Given the description of an element on the screen output the (x, y) to click on. 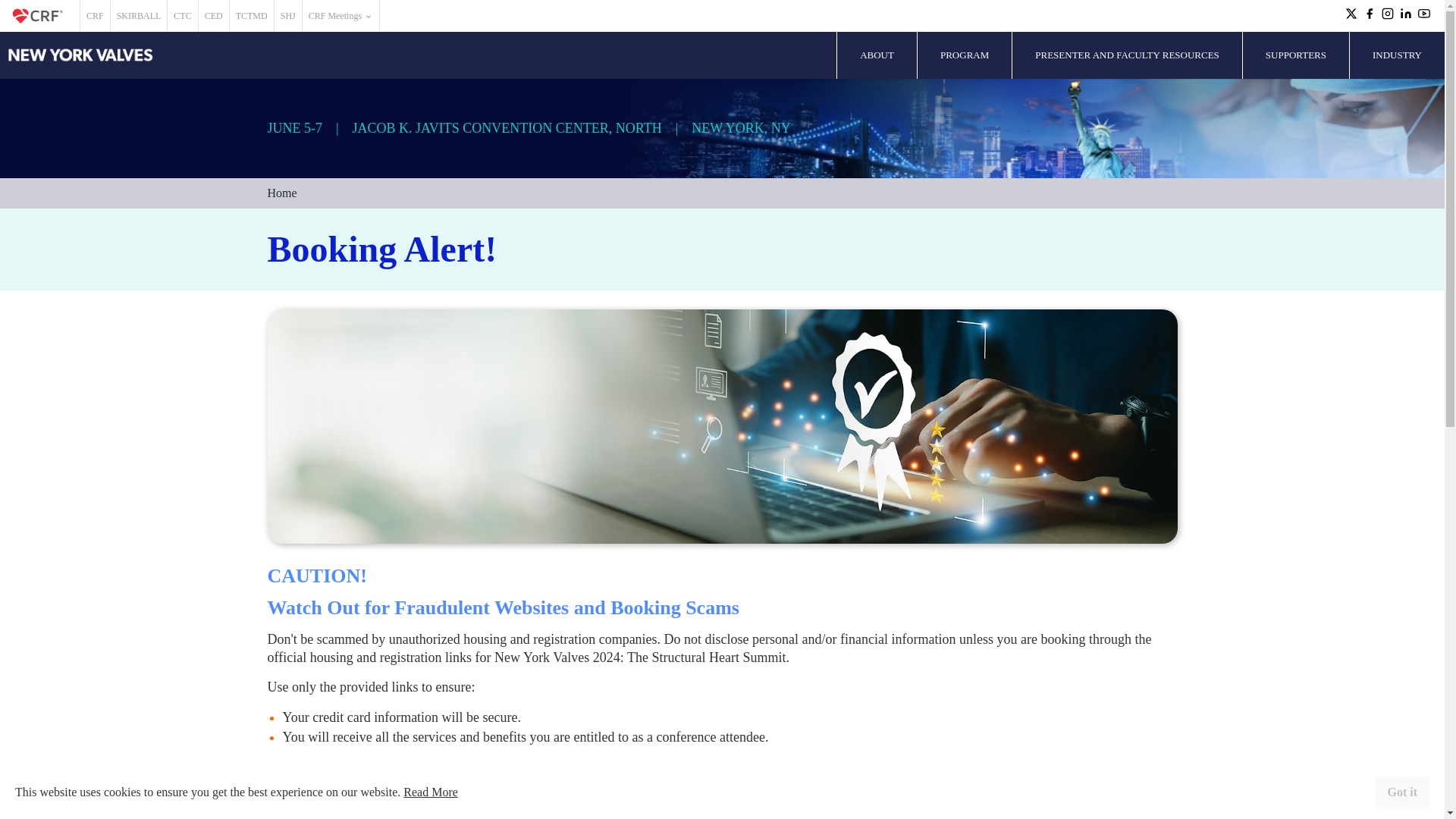
CED (213, 15)
CTC (181, 15)
CRF Meetings (340, 15)
PROGRAM (964, 54)
CRF (95, 15)
ABOUT (877, 54)
SHJ (288, 15)
TCTMD (251, 15)
SKIRBALL (138, 15)
